Given the description of an element on the screen output the (x, y) to click on. 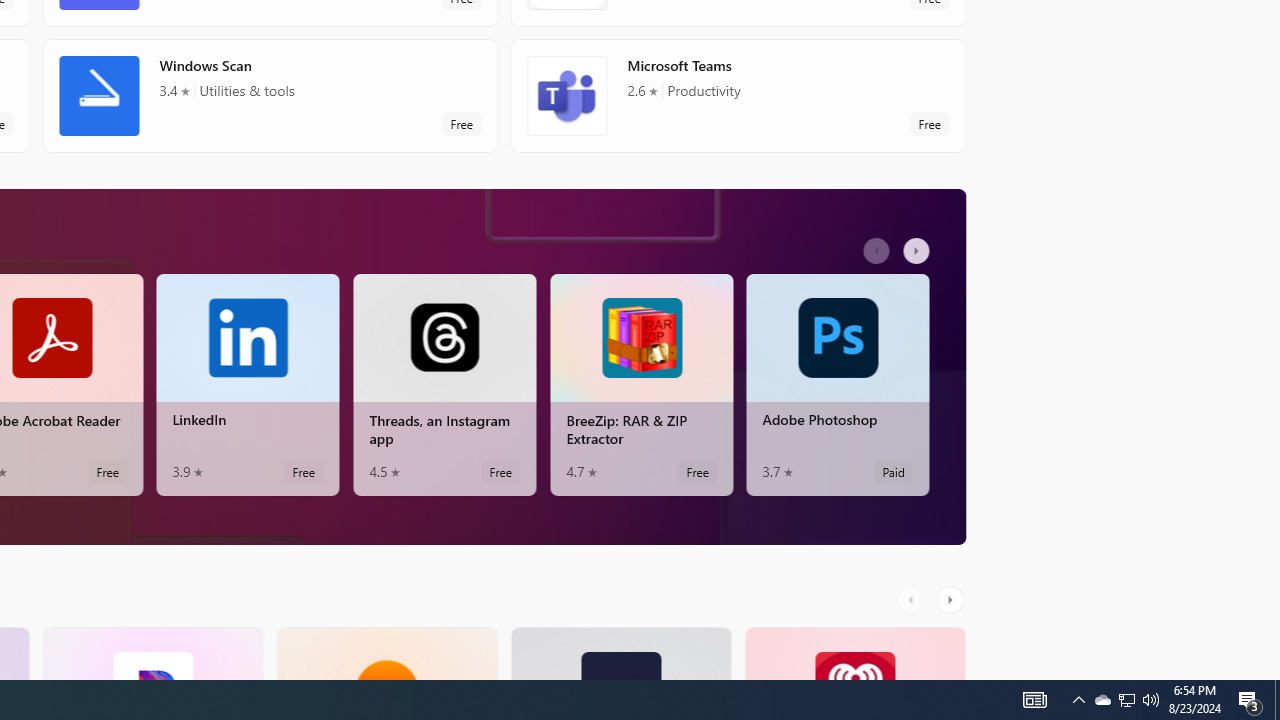
AutomationID: LeftScrollButton (913, 599)
Pandora. Average rating of 4.5 out of five stars. Free   (152, 653)
AutomationID: RightScrollButton (952, 599)
LinkedIn. Average rating of 3.9 out of five stars. Free   (247, 384)
